Given the description of an element on the screen output the (x, y) to click on. 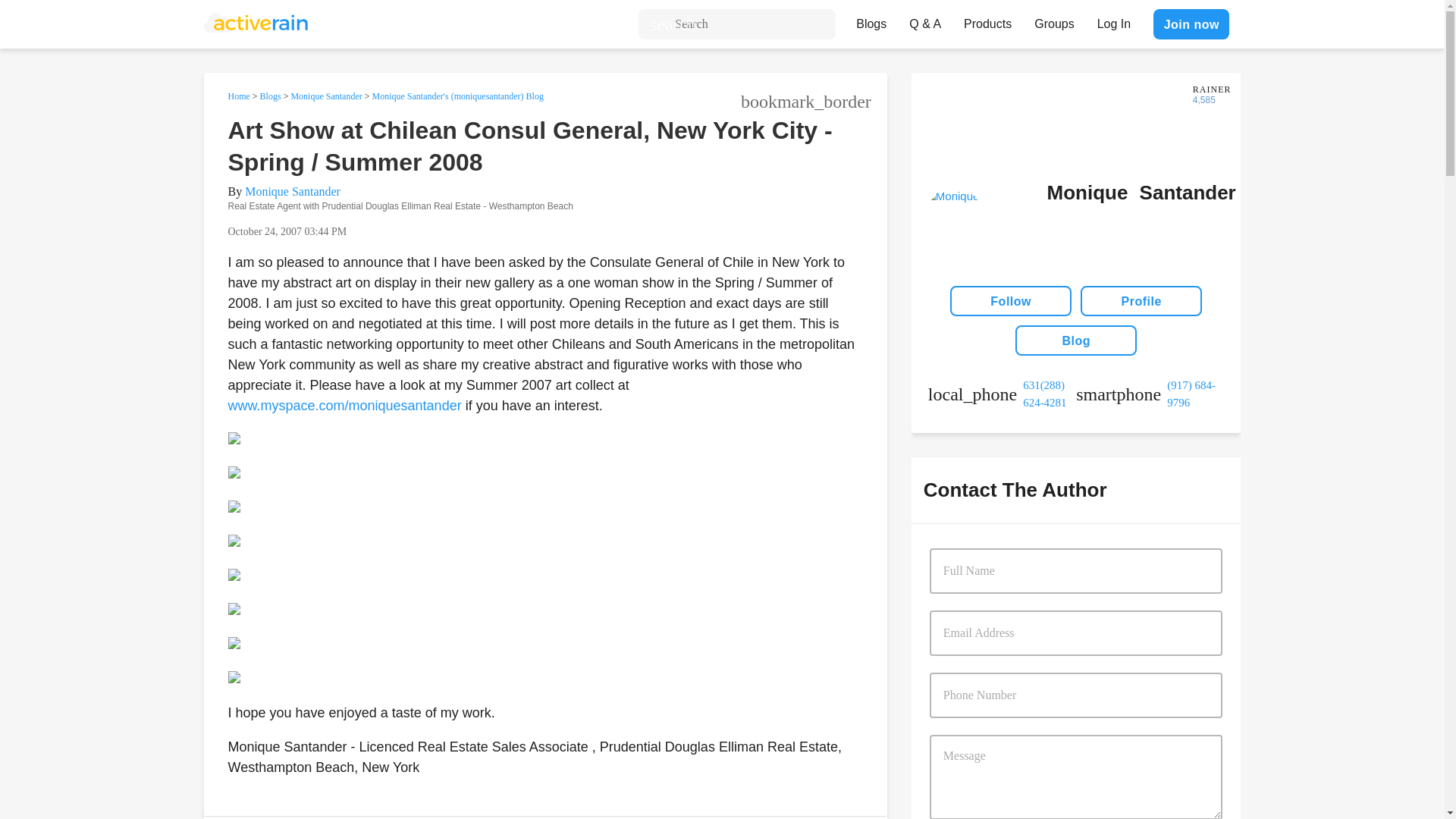
Join now (1190, 24)
Groups (1053, 19)
Products (986, 19)
cell (1149, 393)
Monique Santander (292, 191)
work (1001, 393)
Blogs (270, 95)
Monique Santander (325, 95)
Home (237, 95)
Log In (1113, 19)
